Given the description of an element on the screen output the (x, y) to click on. 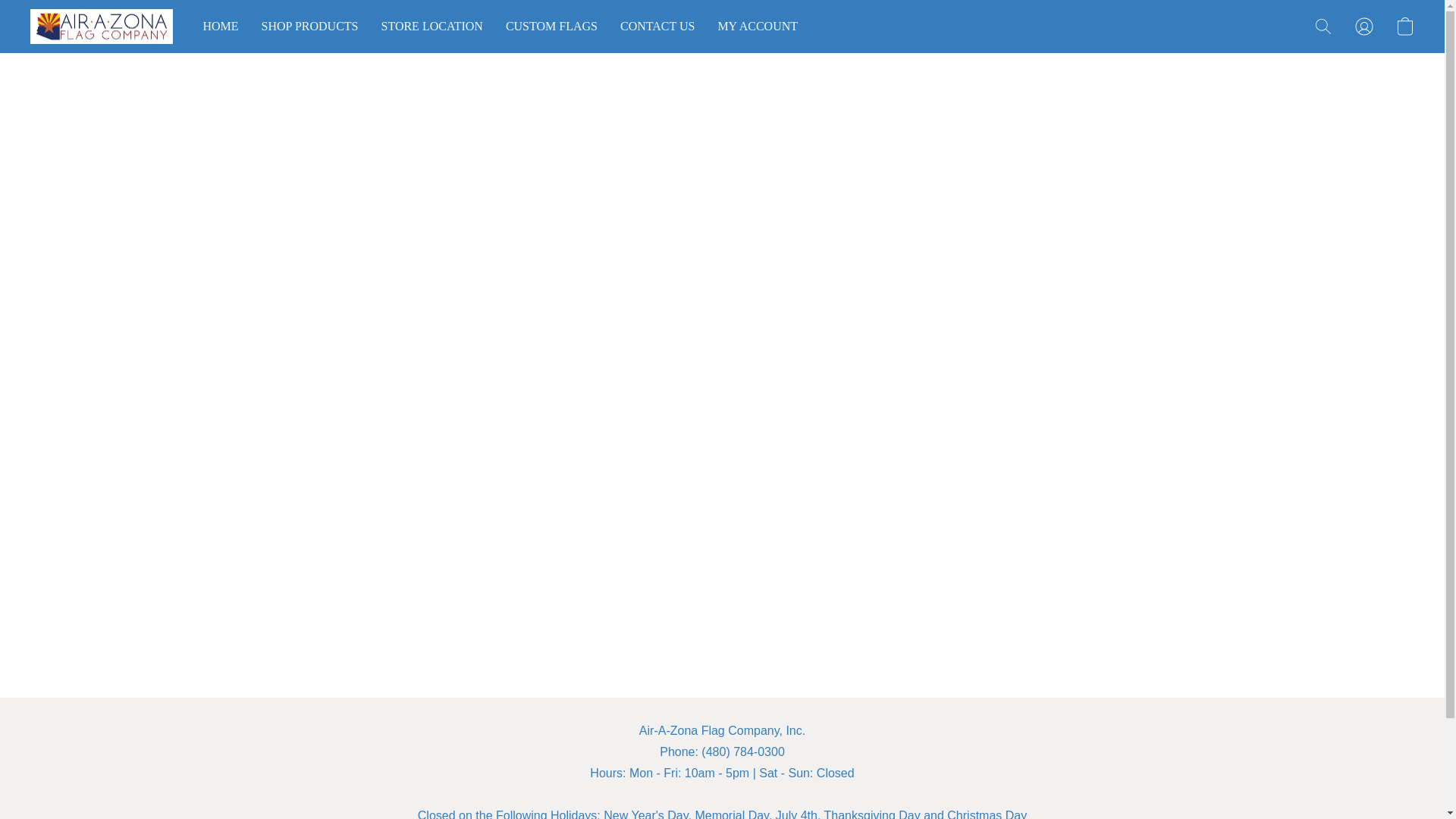
Go to your shopping cart (1404, 26)
STORE LOCATION (432, 26)
Search the website (1323, 26)
CUSTOM FLAGS (551, 26)
HOME (226, 26)
MY ACCOUNT (751, 26)
CONTACT US (657, 26)
SHOP PRODUCTS (309, 26)
